Given the description of an element on the screen output the (x, y) to click on. 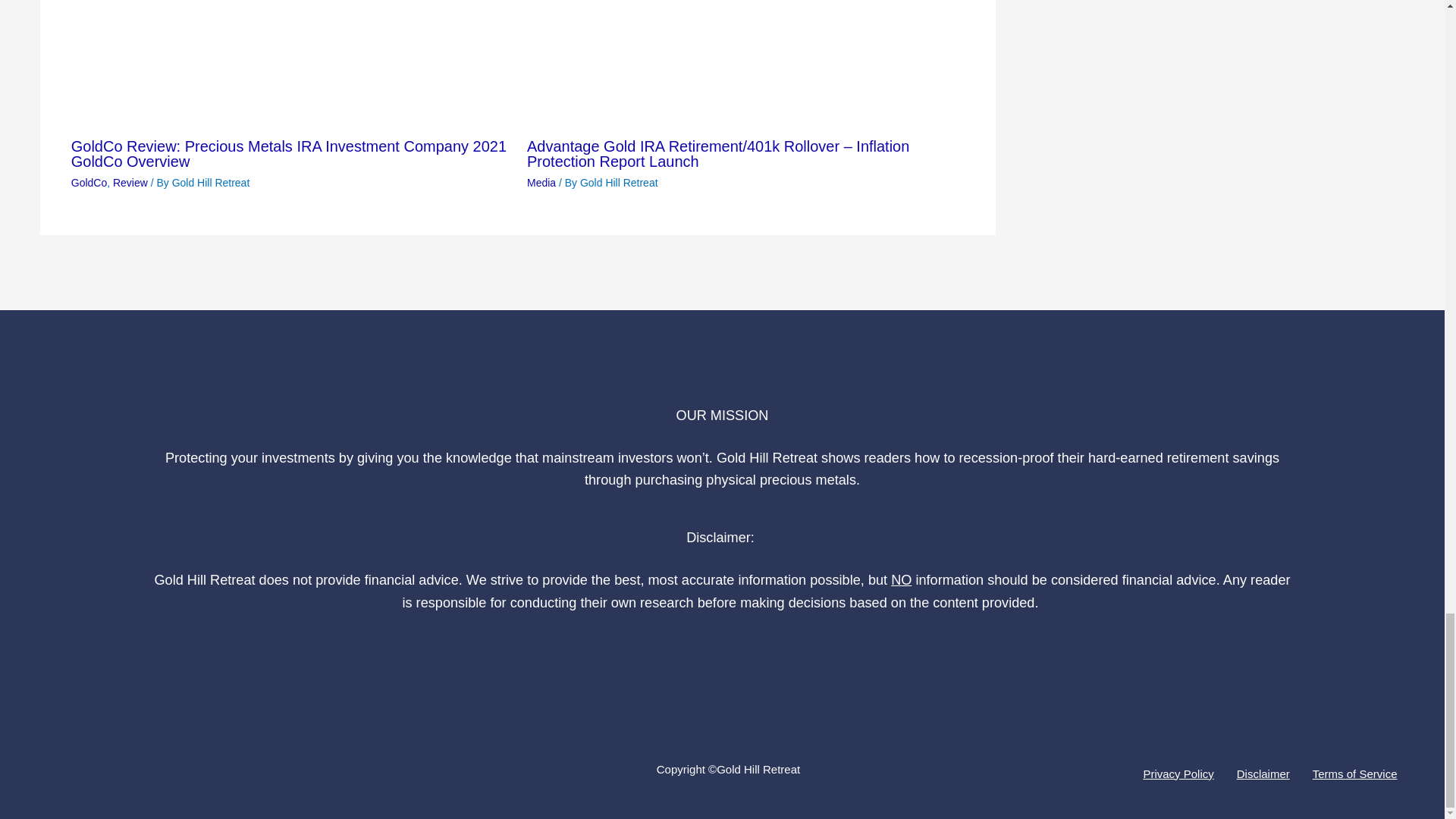
Review (130, 182)
Gold Hill Retreat (618, 182)
View all posts by Gold Hill Retreat (618, 182)
View all posts by Gold Hill Retreat (210, 182)
Terms of Service (1355, 774)
Media (541, 182)
Disclaimer (1263, 774)
Privacy Policy (1177, 774)
GoldCo (88, 182)
Gold Hill Retreat (210, 182)
